Given the description of an element on the screen output the (x, y) to click on. 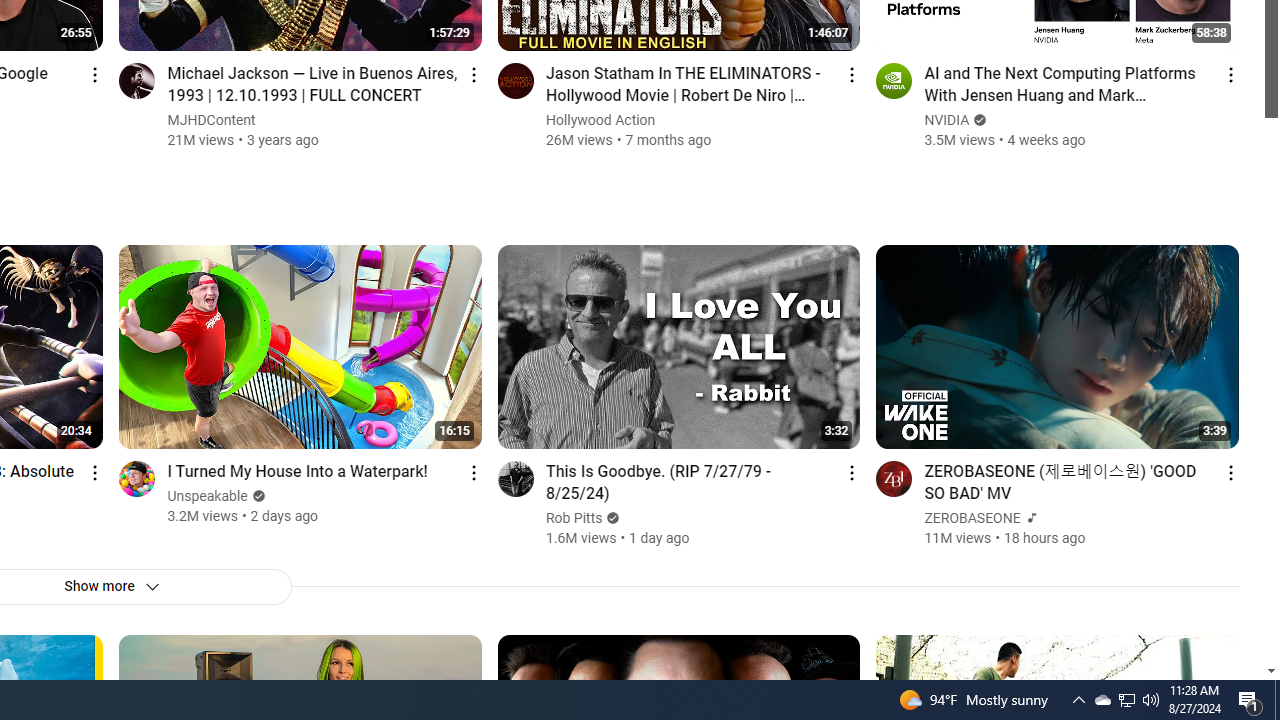
Rob Pitts (574, 518)
NVIDIA (947, 120)
Verified (610, 518)
Official Artist Channel (1029, 518)
Go to channel (893, 478)
ZEROBASEONE (973, 518)
Hollywood Action (600, 120)
MJHDContent (212, 120)
